Given the description of an element on the screen output the (x, y) to click on. 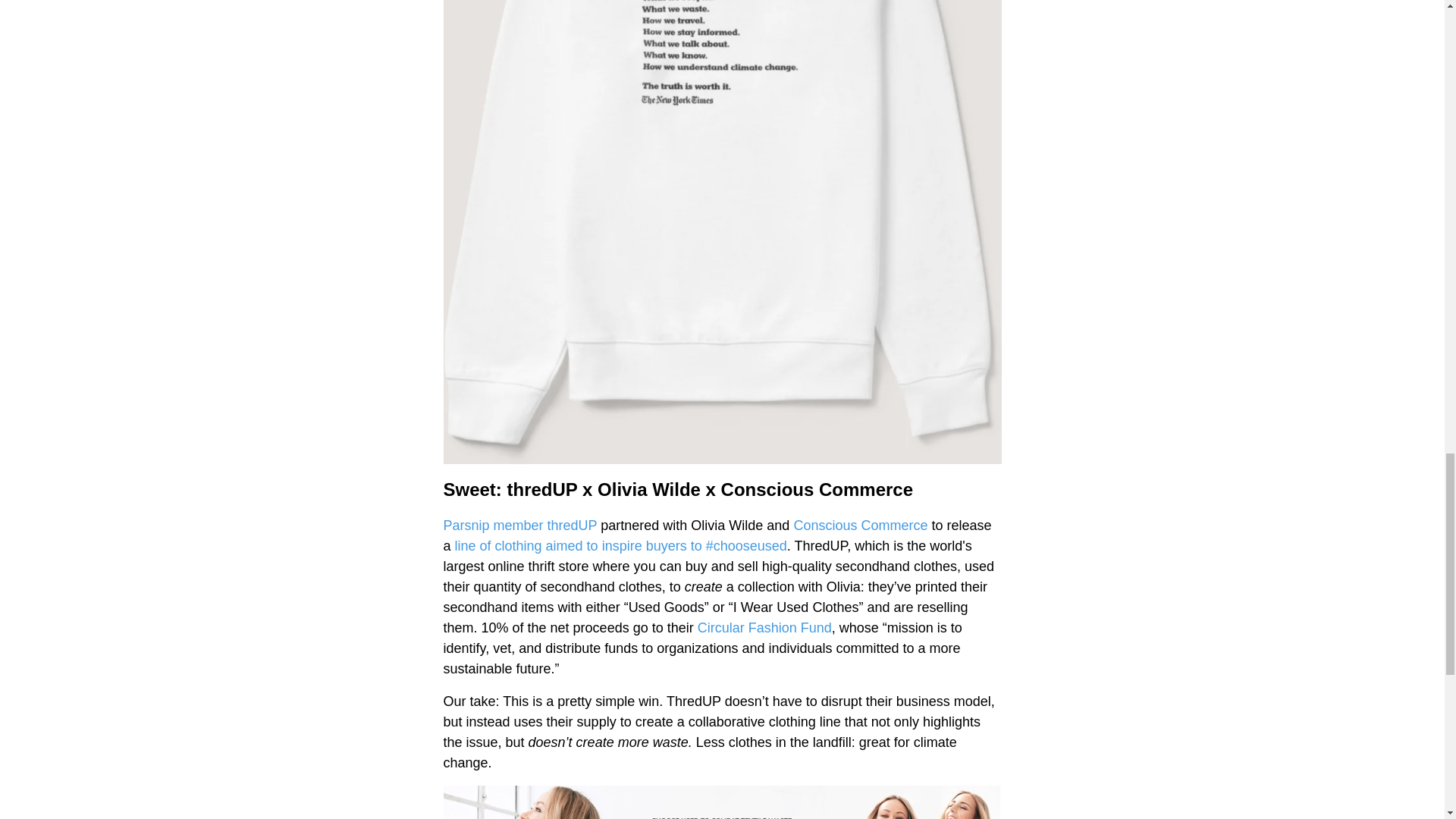
Circular Fashion Fund (764, 627)
Parsnip member thredUP (519, 525)
Conscious Commerce (860, 525)
